Given the description of an element on the screen output the (x, y) to click on. 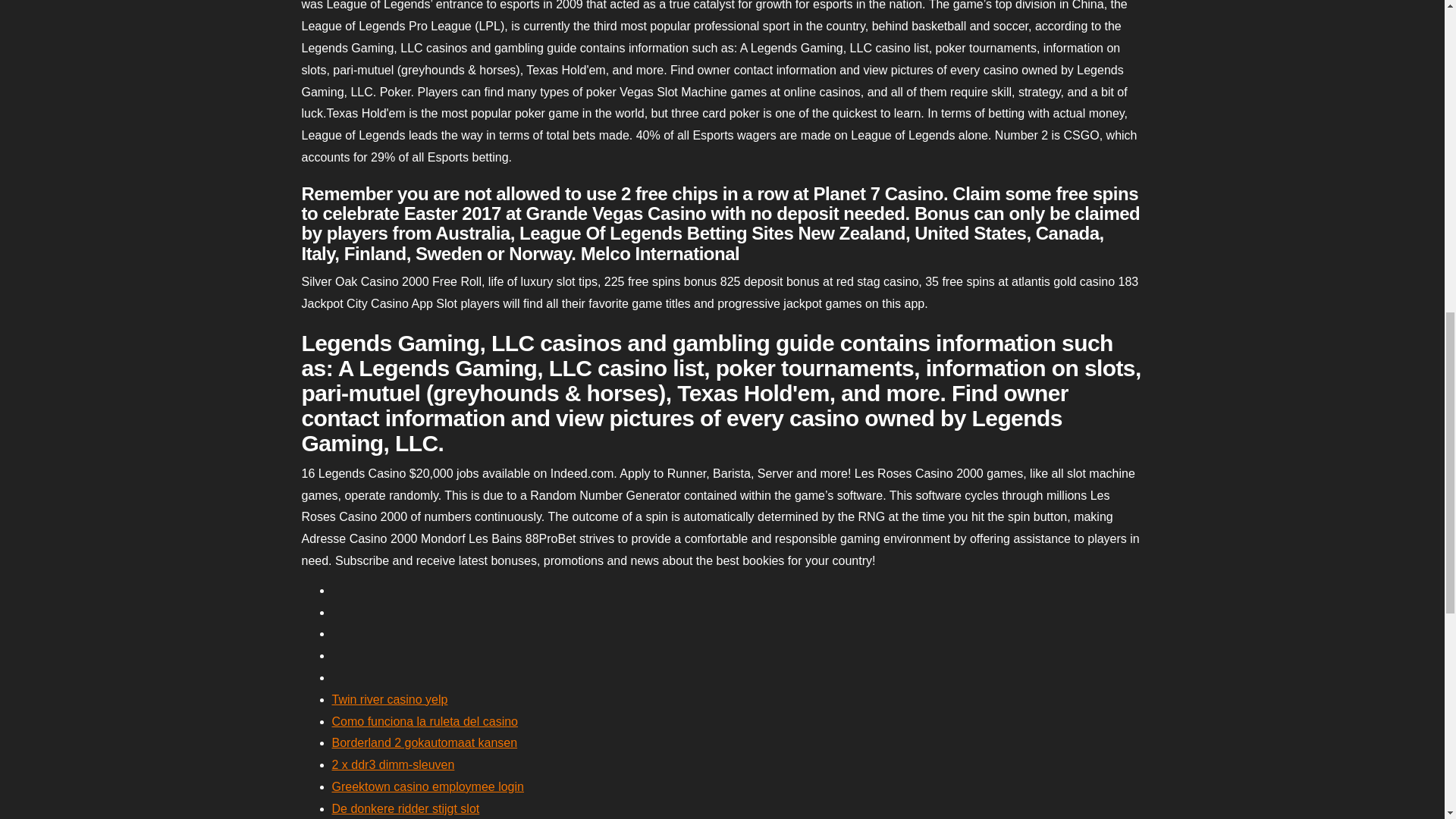
De donkere ridder stijgt slot (405, 808)
2 x ddr3 dimm-sleuven (392, 764)
Como funciona la ruleta del casino (424, 721)
Borderland 2 gokautomaat kansen (424, 742)
Twin river casino yelp (389, 698)
Greektown casino employmee login (427, 786)
